Given the description of an element on the screen output the (x, y) to click on. 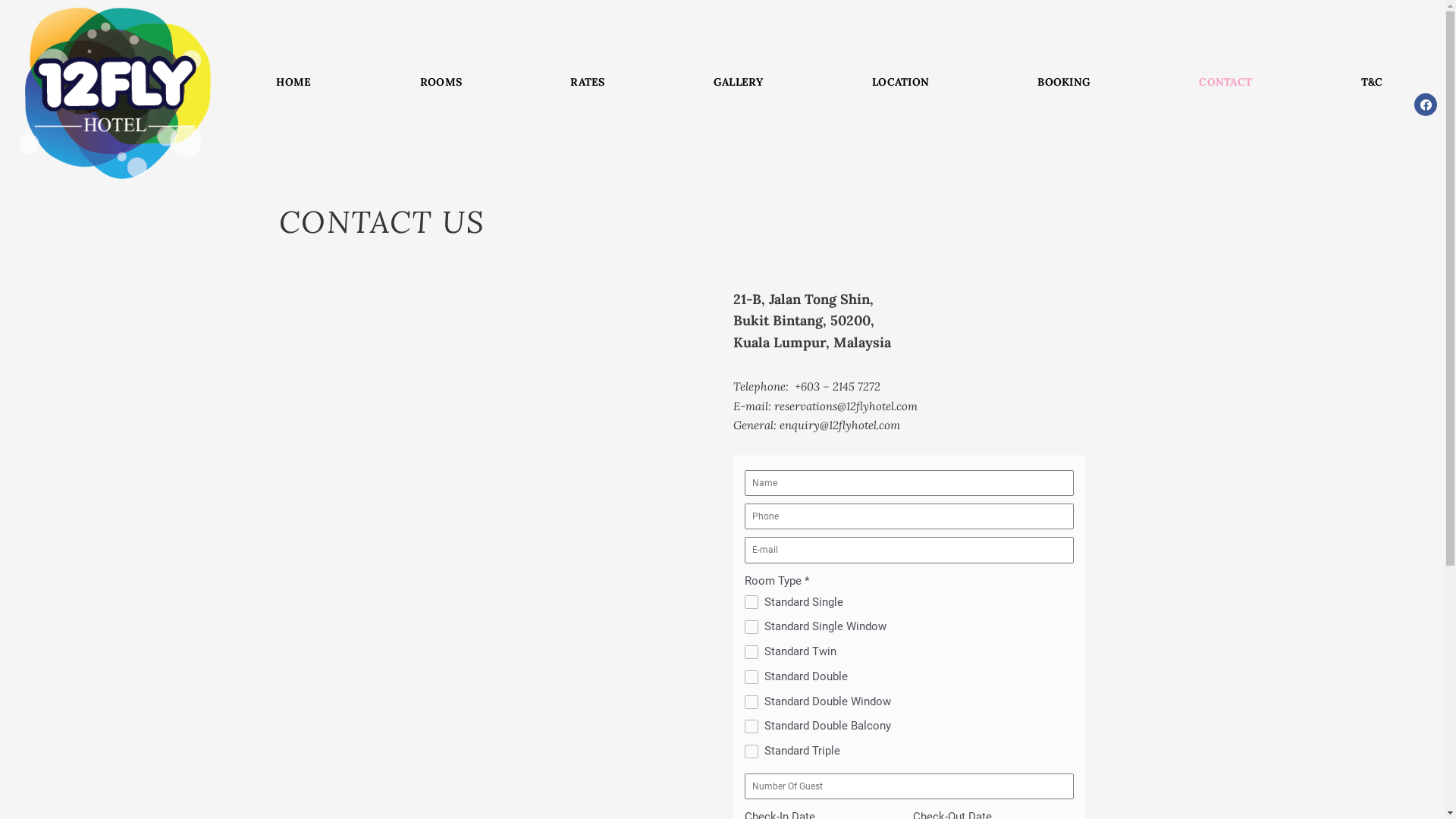
ROOMS Element type: text (440, 81)
GALLERY Element type: text (737, 81)
BOOKING Element type: text (1064, 81)
HOME Element type: text (293, 81)
CONTACT Element type: text (1225, 81)
RATES Element type: text (587, 81)
T&C Element type: text (1371, 81)
LOCATION Element type: text (899, 81)
12fly hotel Element type: hover (490, 384)
